Given the description of an element on the screen output the (x, y) to click on. 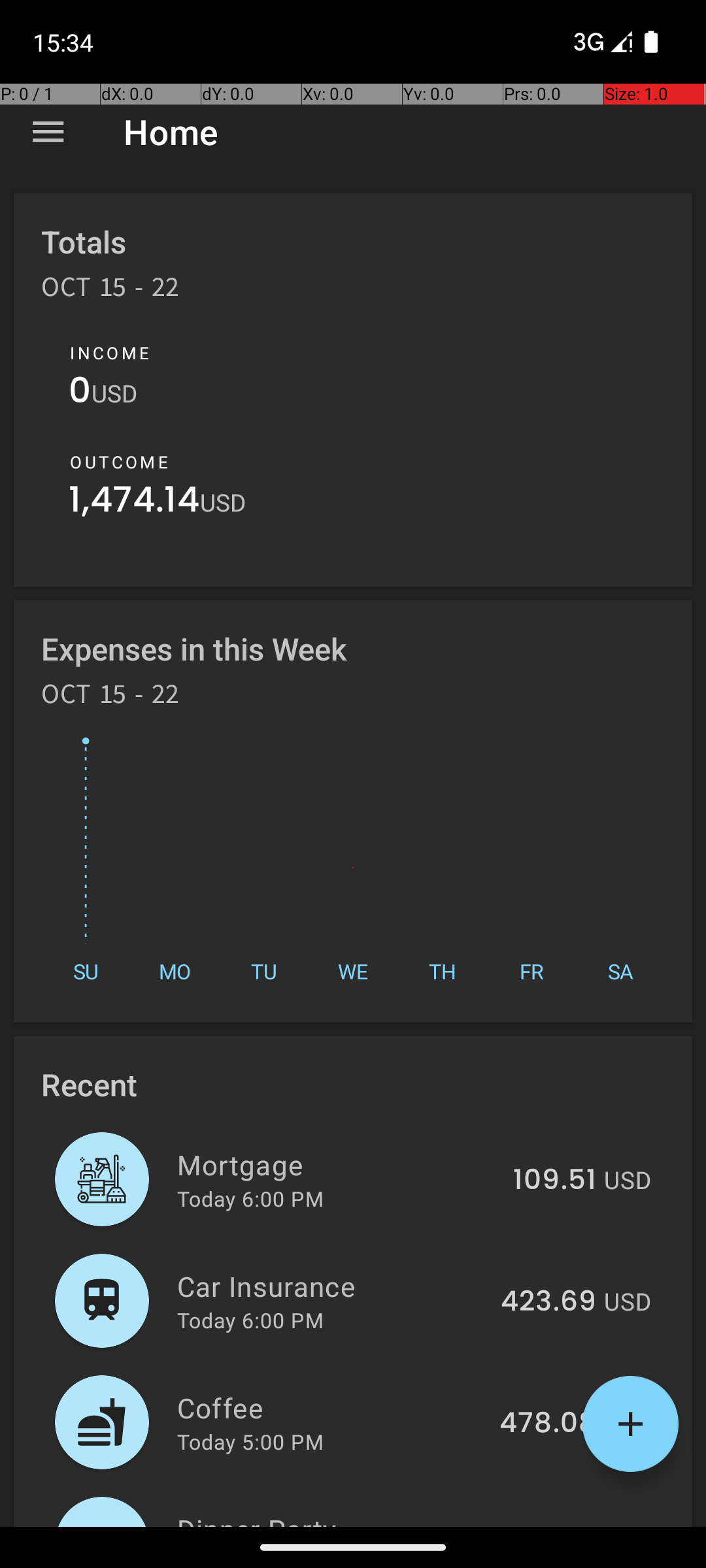
1,474.14 Element type: android.widget.TextView (134, 502)
Mortgage Element type: android.widget.TextView (337, 1164)
Today 6:00 PM Element type: android.widget.TextView (250, 1198)
109.51 Element type: android.widget.TextView (554, 1180)
Car Insurance Element type: android.widget.TextView (331, 1285)
423.69 Element type: android.widget.TextView (548, 1301)
Coffee Element type: android.widget.TextView (330, 1407)
Today 5:00 PM Element type: android.widget.TextView (250, 1441)
478.08 Element type: android.widget.TextView (547, 1423)
Dinner Party Element type: android.widget.TextView (330, 1518)
462.86 Element type: android.widget.TextView (547, 1524)
